Given the description of an element on the screen output the (x, y) to click on. 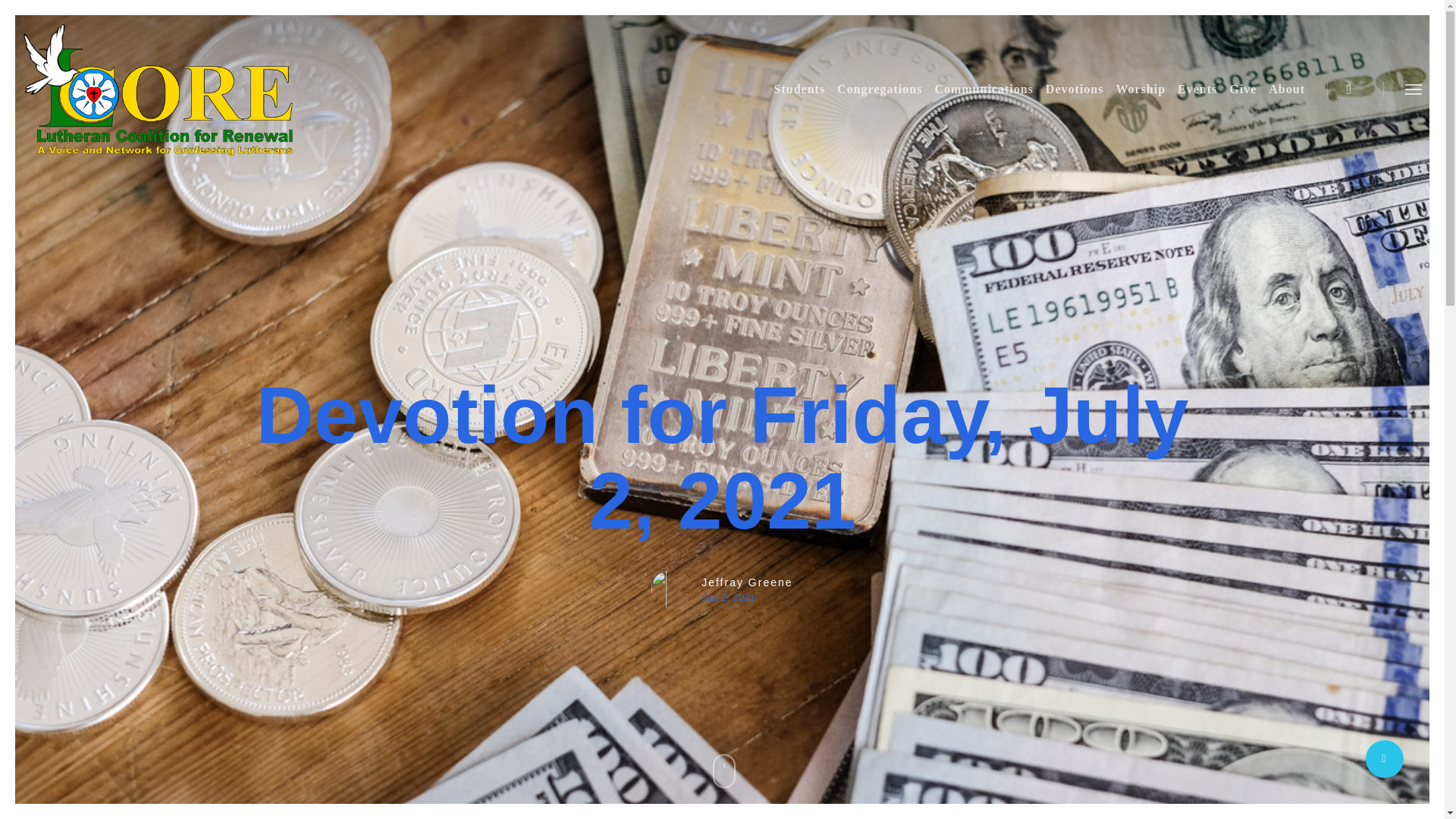
Events (1197, 89)
Devotions (1074, 89)
Students (799, 89)
Give (1242, 89)
Congregations (879, 89)
Communications (983, 89)
About (1286, 89)
Worship (1140, 89)
Posts by Jeffray Greene (746, 581)
